Given the description of an element on the screen output the (x, y) to click on. 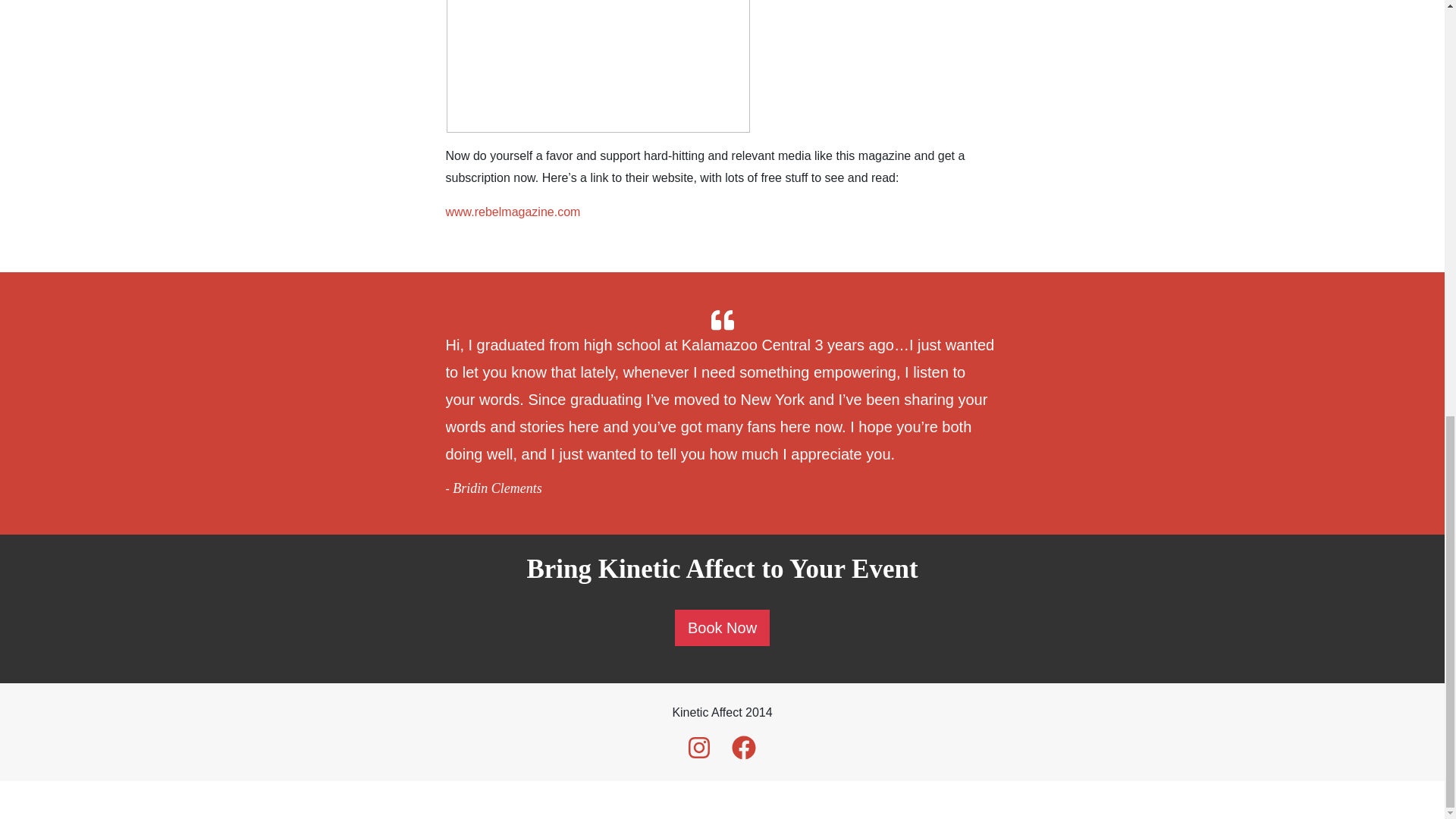
www.rebelmagazine.com (512, 211)
Book Now (722, 627)
